Given the description of an element on the screen output the (x, y) to click on. 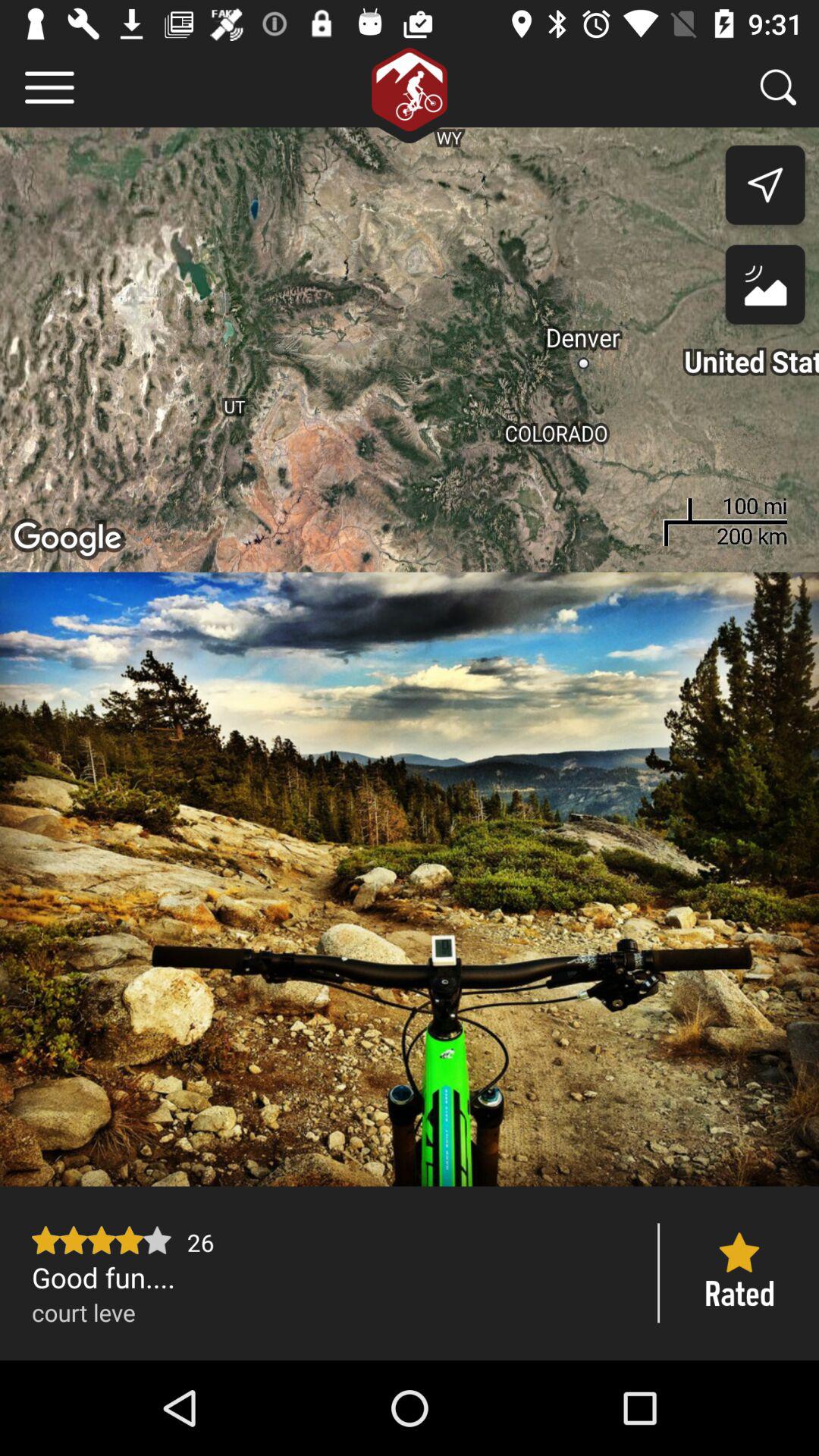
open item above the court leve item (329, 1277)
